Given the description of an element on the screen output the (x, y) to click on. 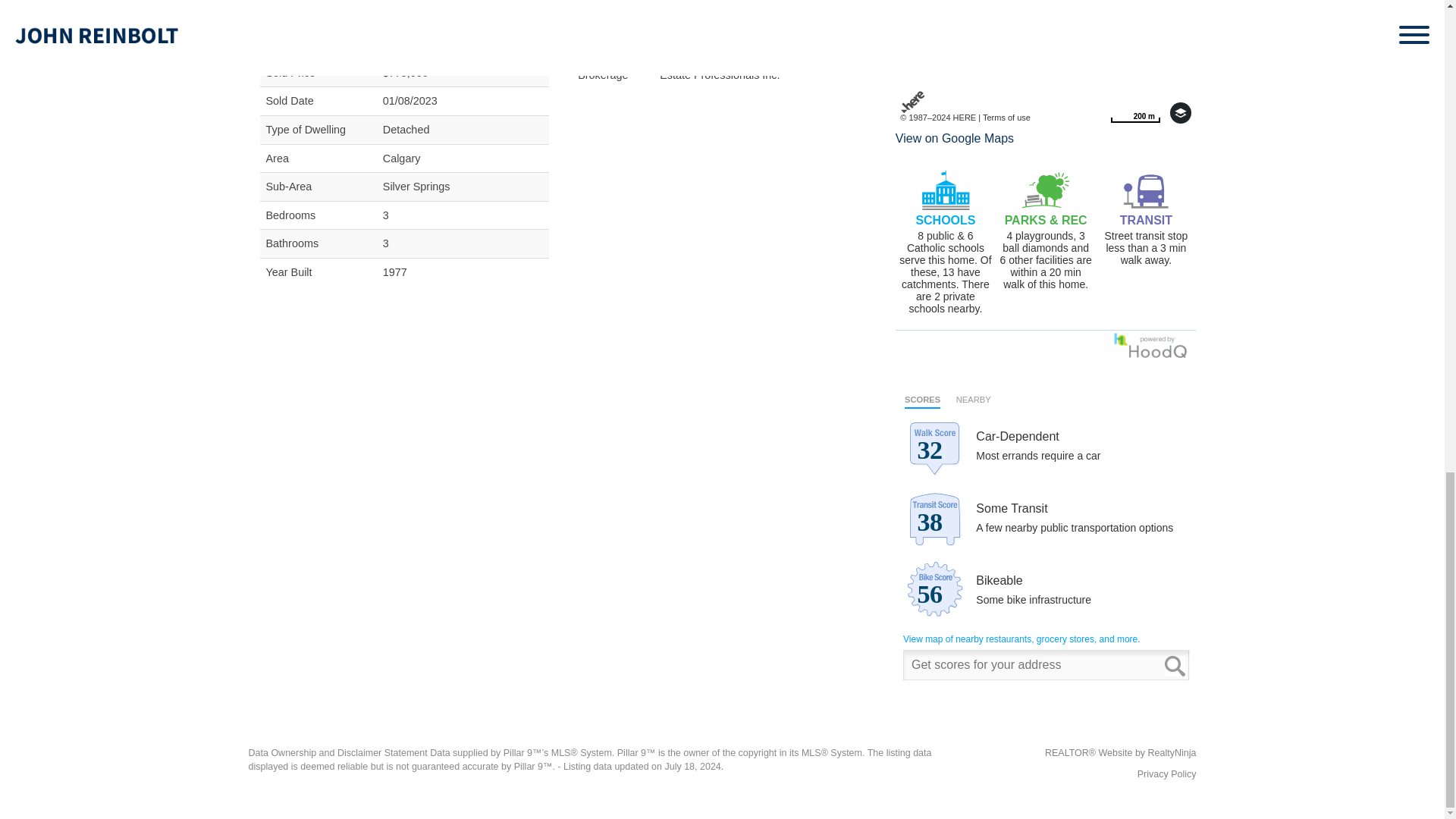
Zoom in (1180, 7)
Change to miles (1134, 112)
View on Google Maps (954, 137)
Terms of use (1006, 117)
Choose view (1180, 112)
Walk Score (1045, 534)
